Given the description of an element on the screen output the (x, y) to click on. 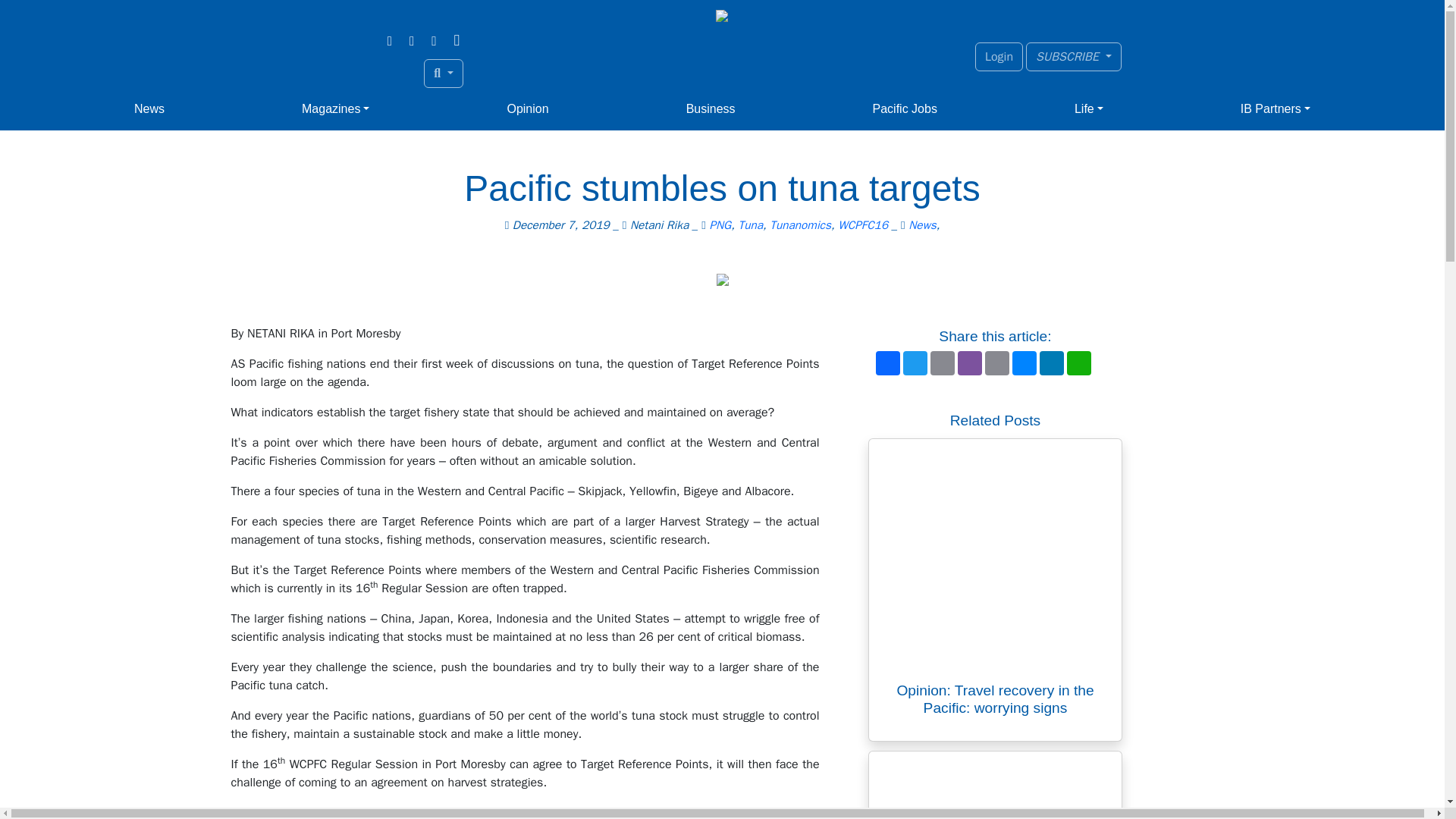
Magazines (335, 109)
Pacific Jobs (904, 109)
Life (1088, 109)
SUBSCRIBE (1073, 56)
Business (710, 109)
Opinion (527, 109)
Login (999, 56)
News (149, 109)
IB Partners (1275, 109)
Login (999, 56)
